Given the description of an element on the screen output the (x, y) to click on. 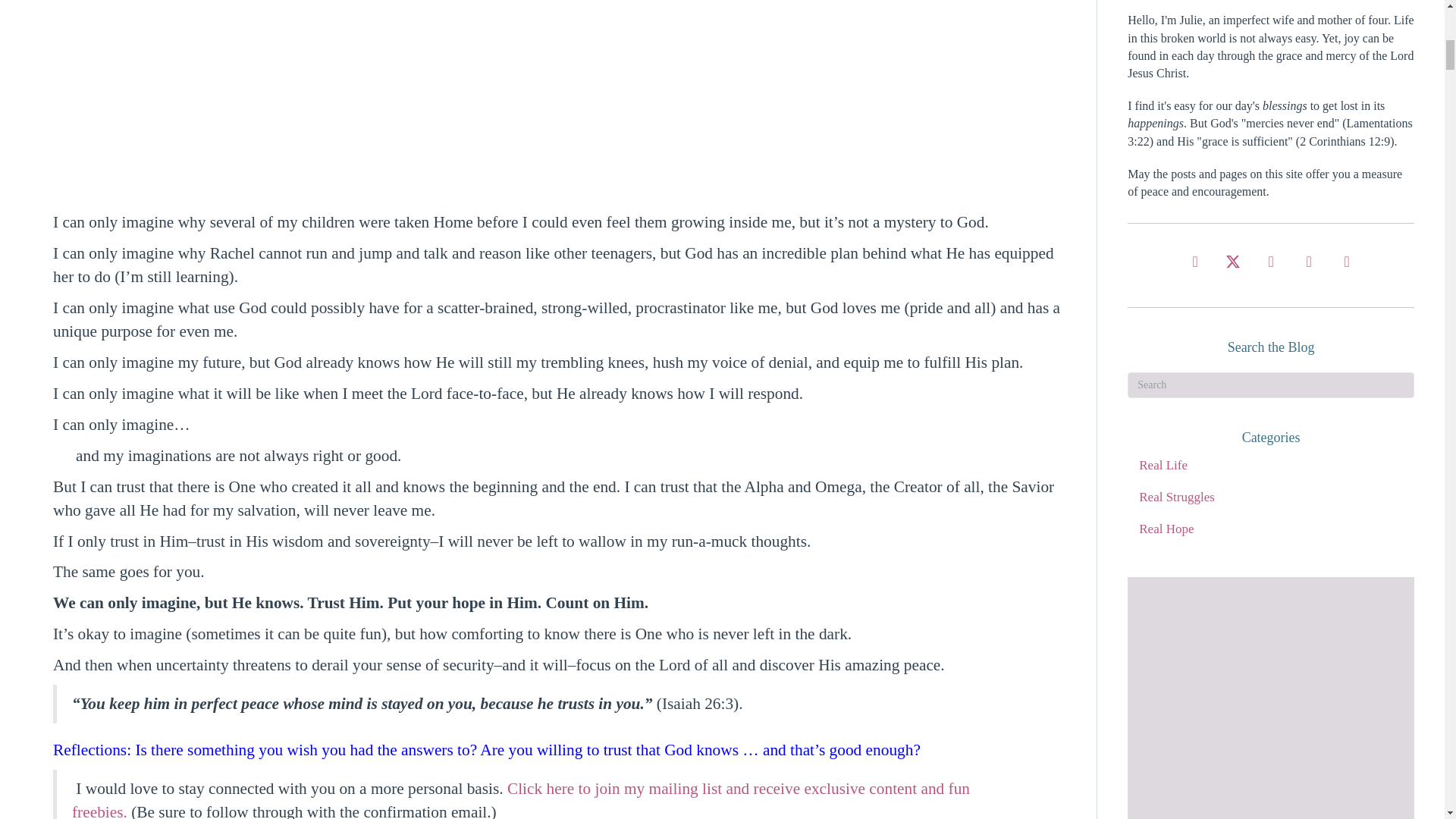
Type and press Enter to search. (1269, 385)
Pinterest (1308, 261)
Facebook (1194, 261)
Instagram (1270, 261)
LinkedIn (1346, 261)
